Given the description of an element on the screen output the (x, y) to click on. 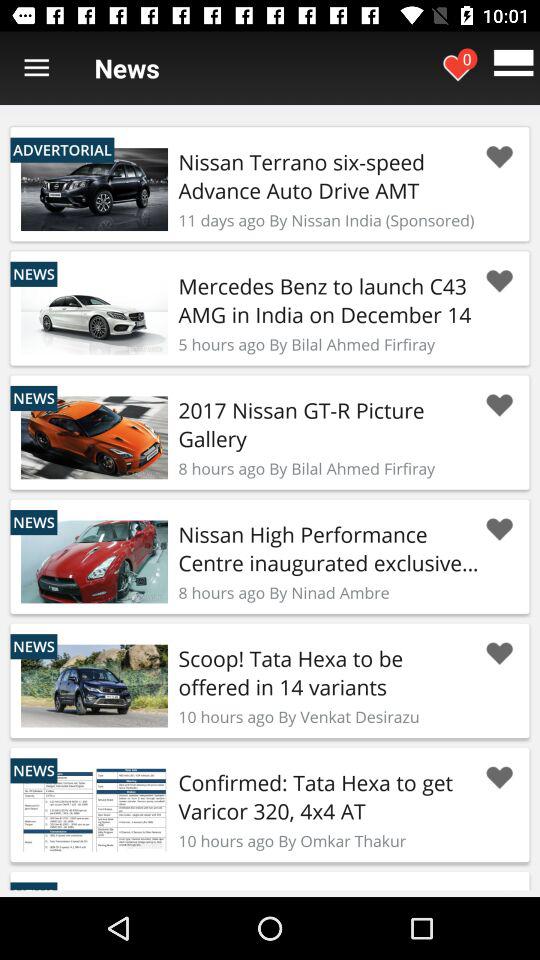
this button allows to set that element as a favorite one (499, 529)
